Given the description of an element on the screen output the (x, y) to click on. 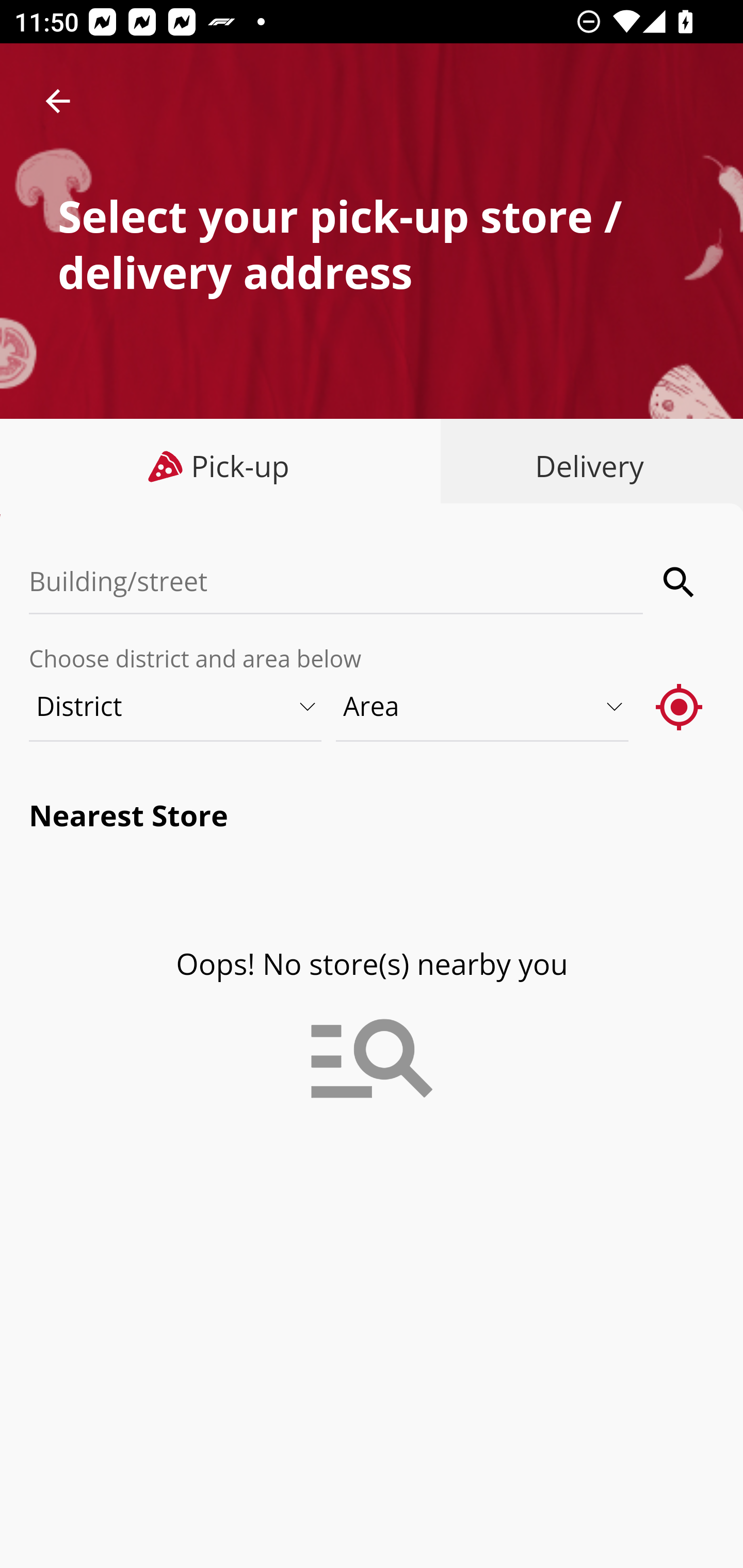
arrow_back (58, 100)
Pick-up (221, 466)
Delivery (585, 466)
search (679, 582)
gps_fixed (679, 706)
District (175, 706)
Area (482, 706)
